Given the description of an element on the screen output the (x, y) to click on. 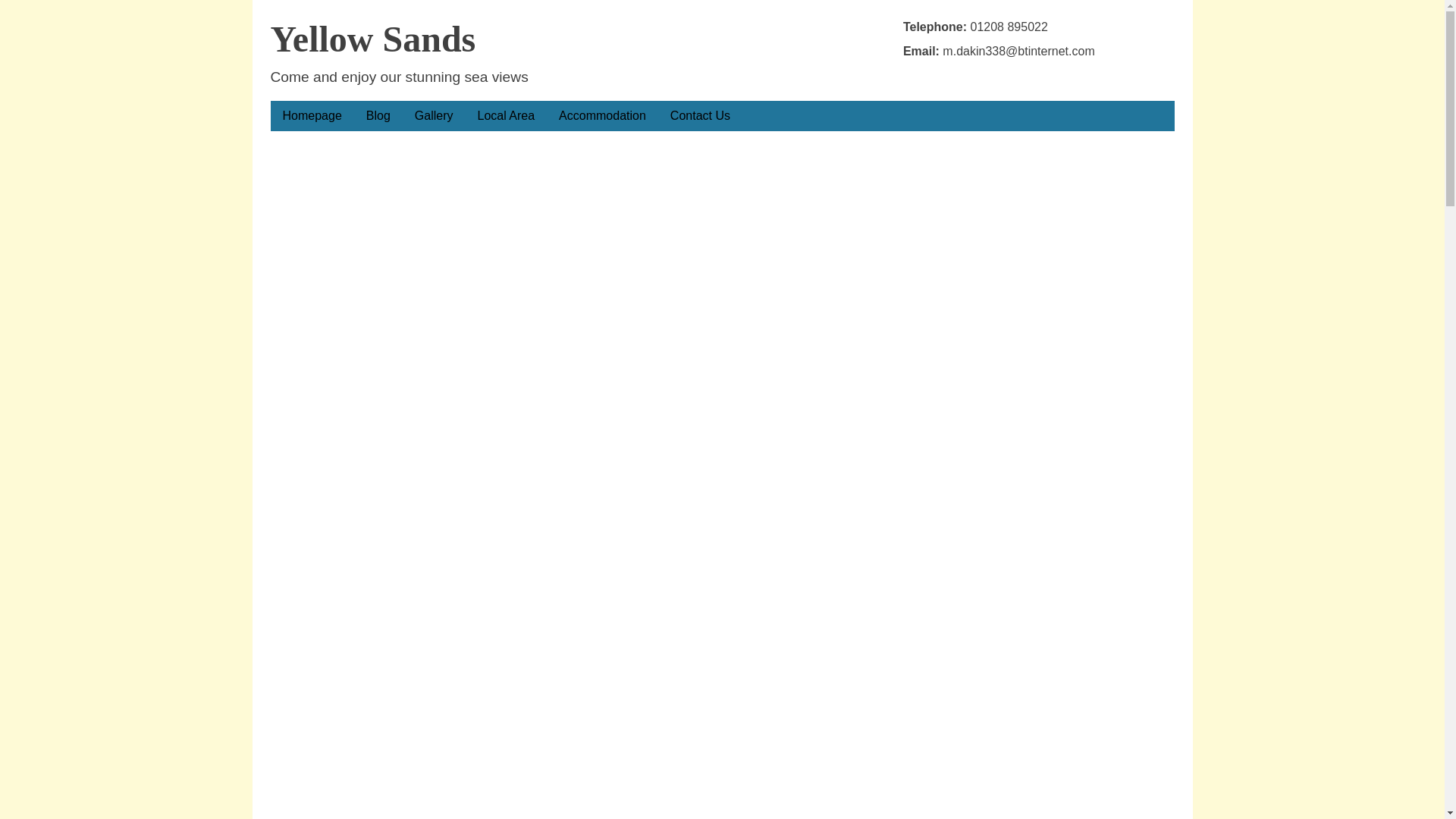
Gallery (433, 116)
01208 895022 (1009, 26)
Homepage (311, 116)
Local Area (506, 116)
Accommodation (602, 116)
Contact Us (699, 116)
Yellow Sands (372, 38)
Blog (378, 116)
